Given the description of an element on the screen output the (x, y) to click on. 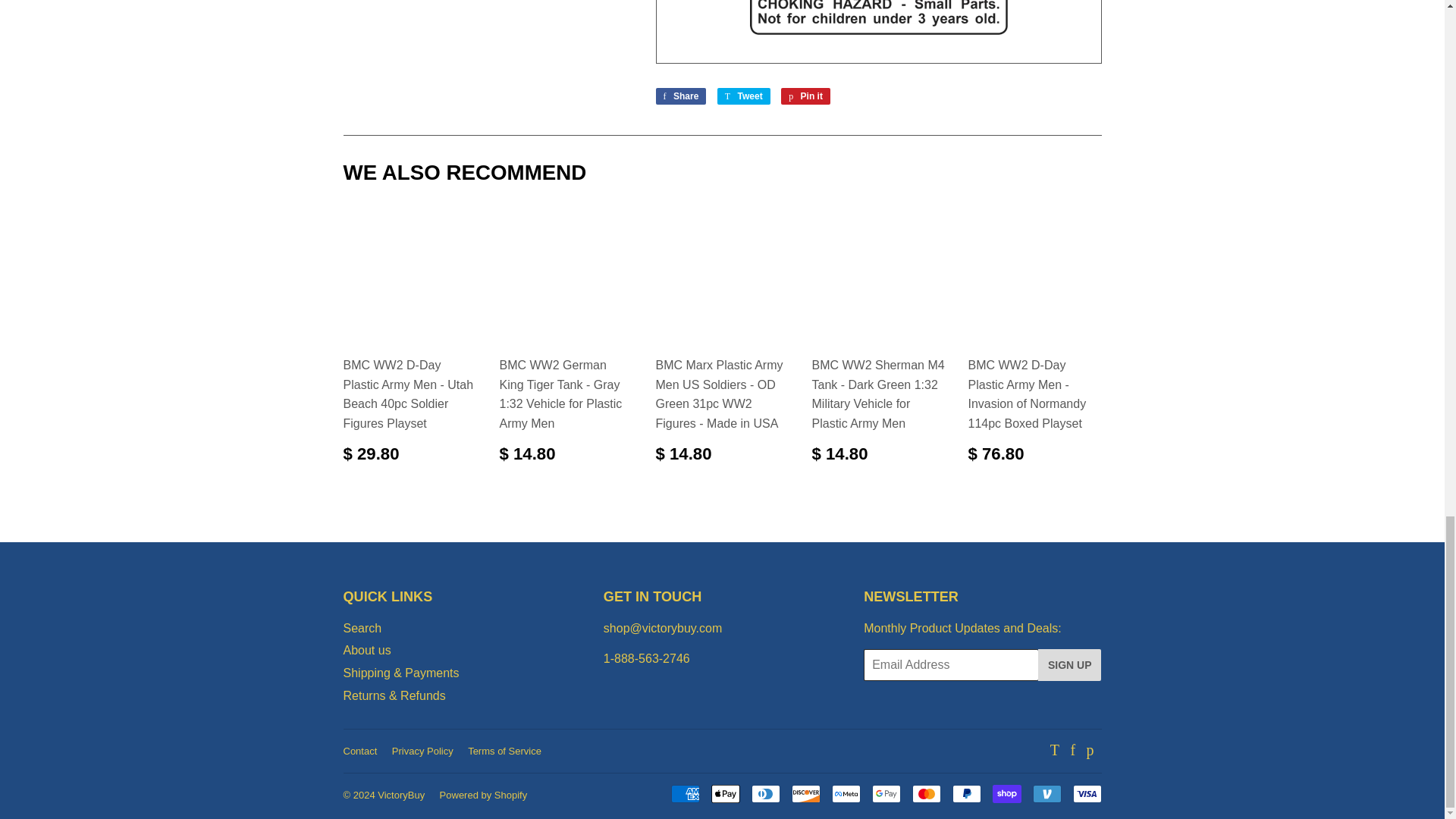
Tweet on Twitter (743, 95)
Mastercard (925, 793)
Venmo (1046, 793)
American Express (683, 793)
Discover (806, 793)
PayPal (966, 793)
Shop Pay (1005, 793)
Visa (1085, 793)
Google Pay (886, 793)
Share on Facebook (680, 95)
Diners Club (764, 793)
Apple Pay (725, 793)
Meta Pay (845, 793)
Pin on Pinterest (804, 95)
